Given the description of an element on the screen output the (x, y) to click on. 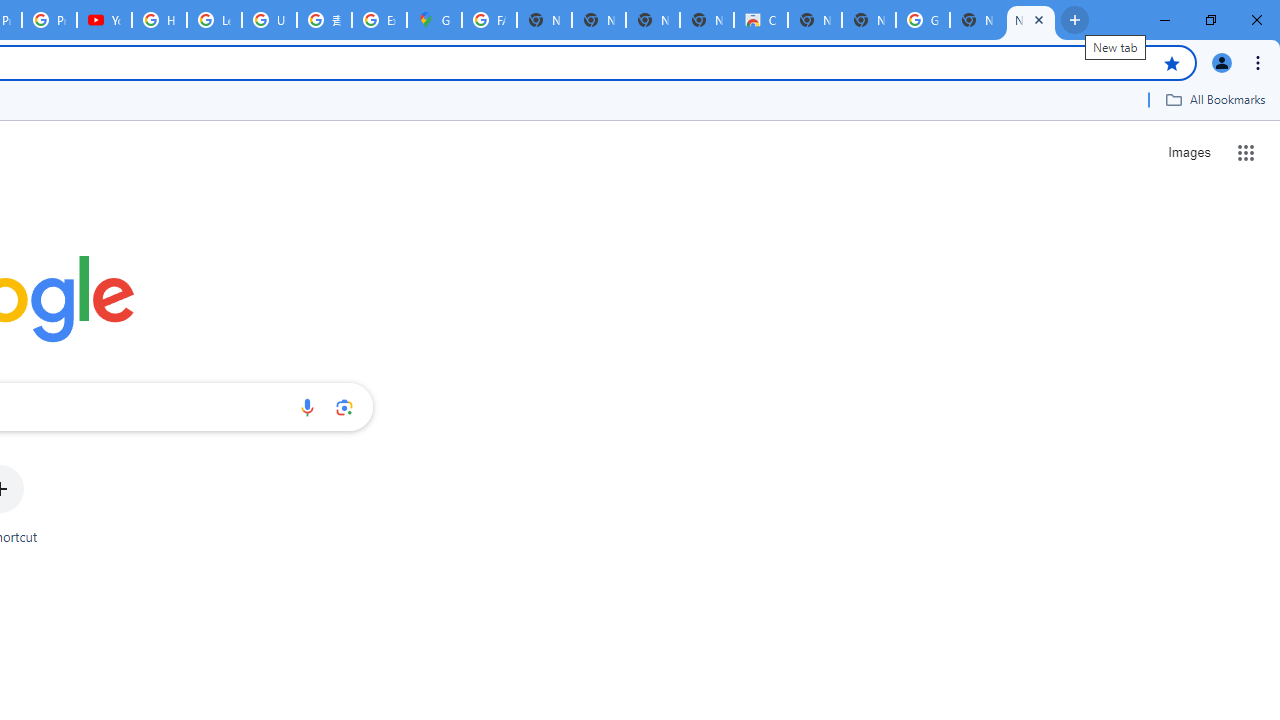
Google Images (922, 20)
Privacy Checkup (48, 20)
New Tab (868, 20)
Google Maps (434, 20)
